Given the description of an element on the screen output the (x, y) to click on. 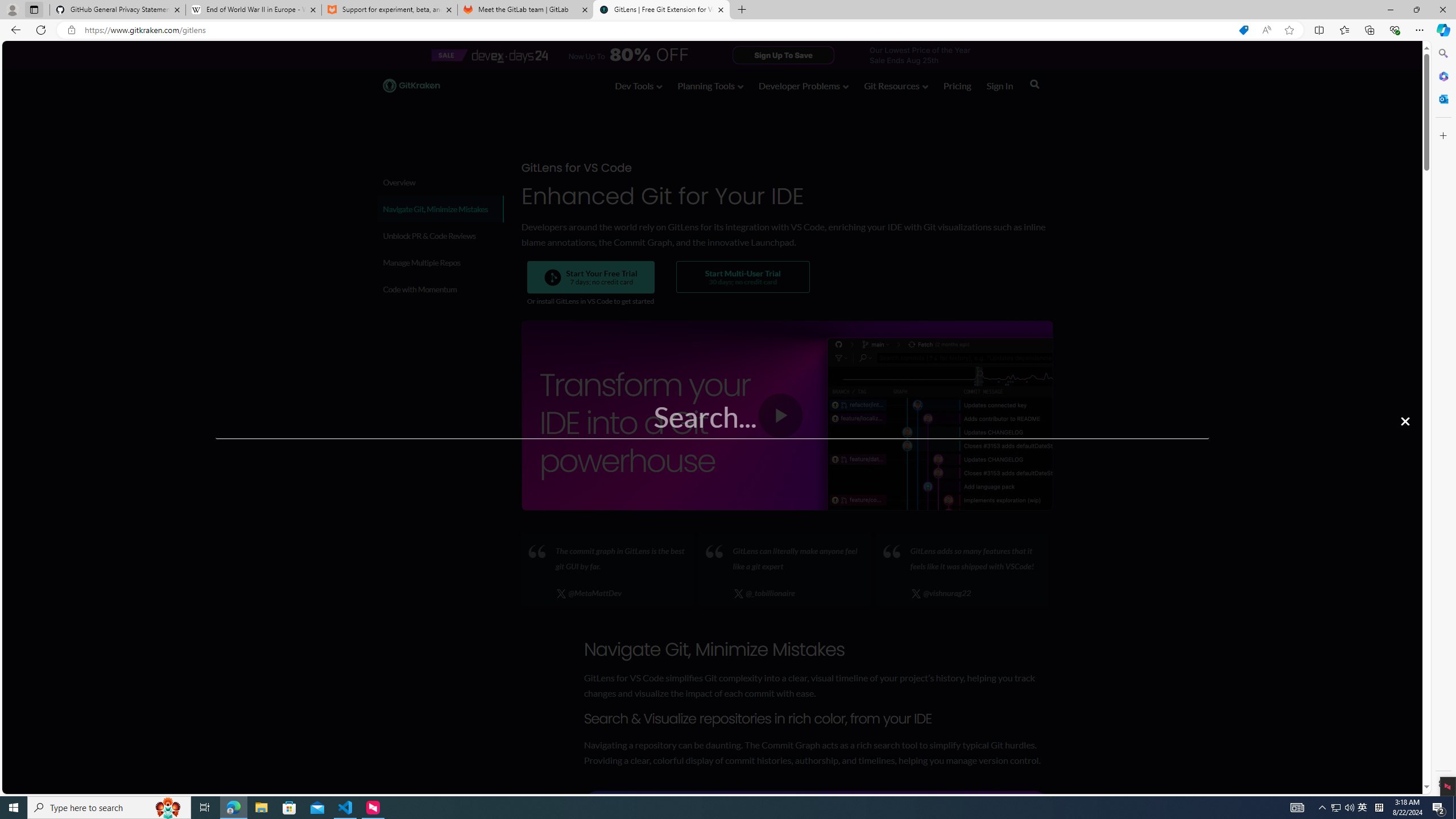
Unblock PR & Code Reviews (439, 235)
Sign In (999, 87)
